Given the description of an element on the screen output the (x, y) to click on. 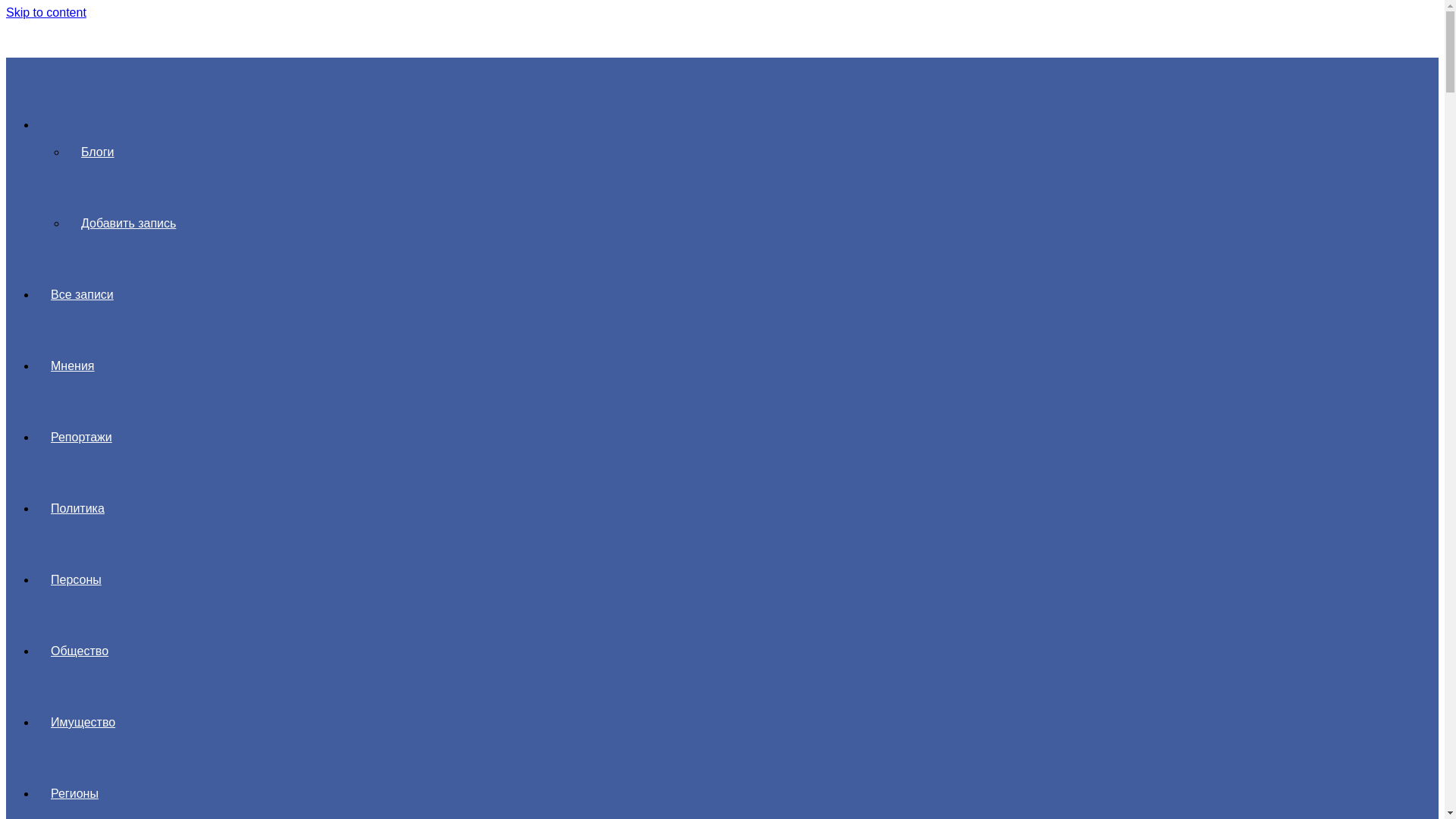
Skip to content (45, 11)
